Given the description of an element on the screen output the (x, y) to click on. 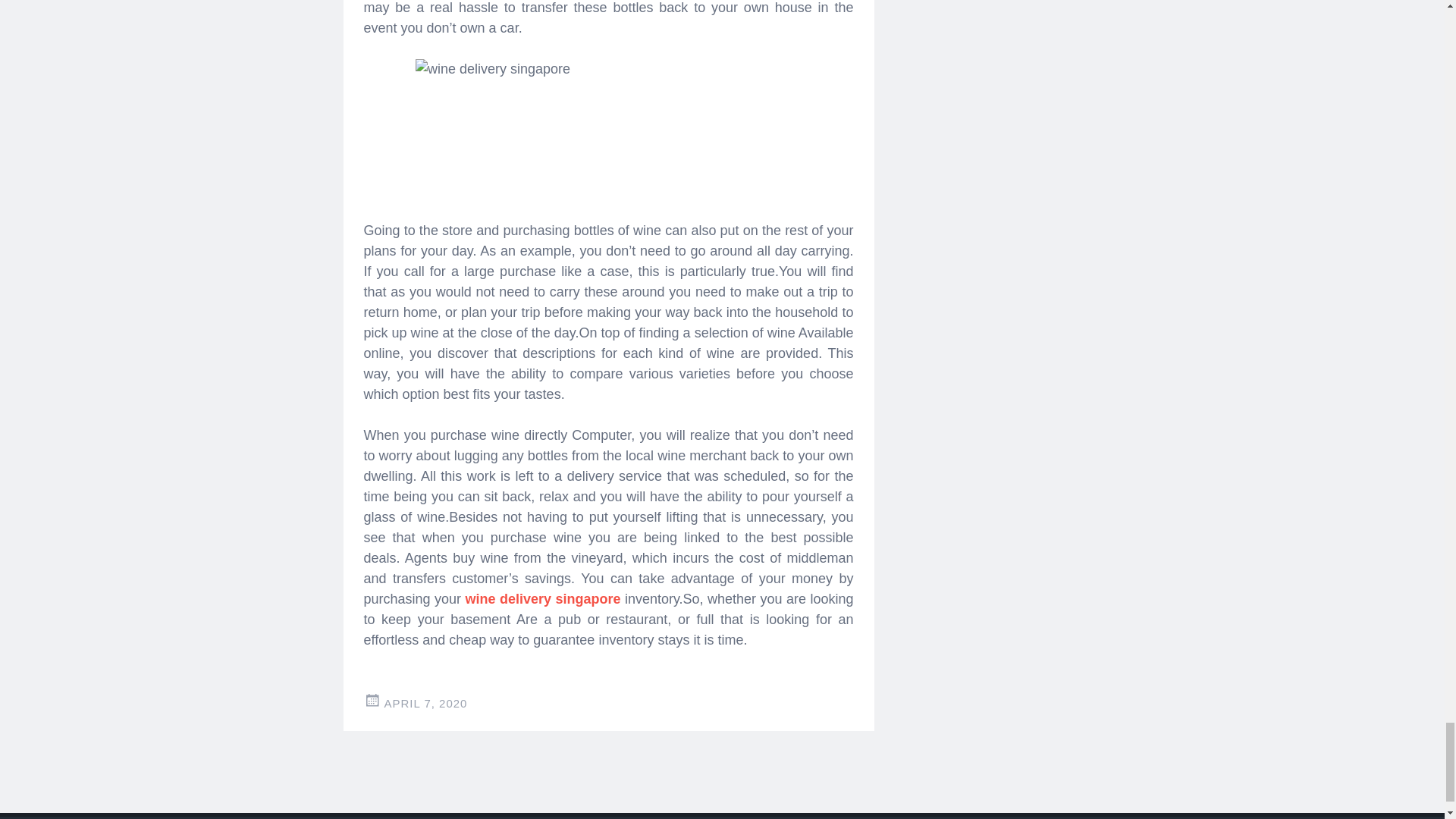
7:51 am (425, 703)
